Given the description of an element on the screen output the (x, y) to click on. 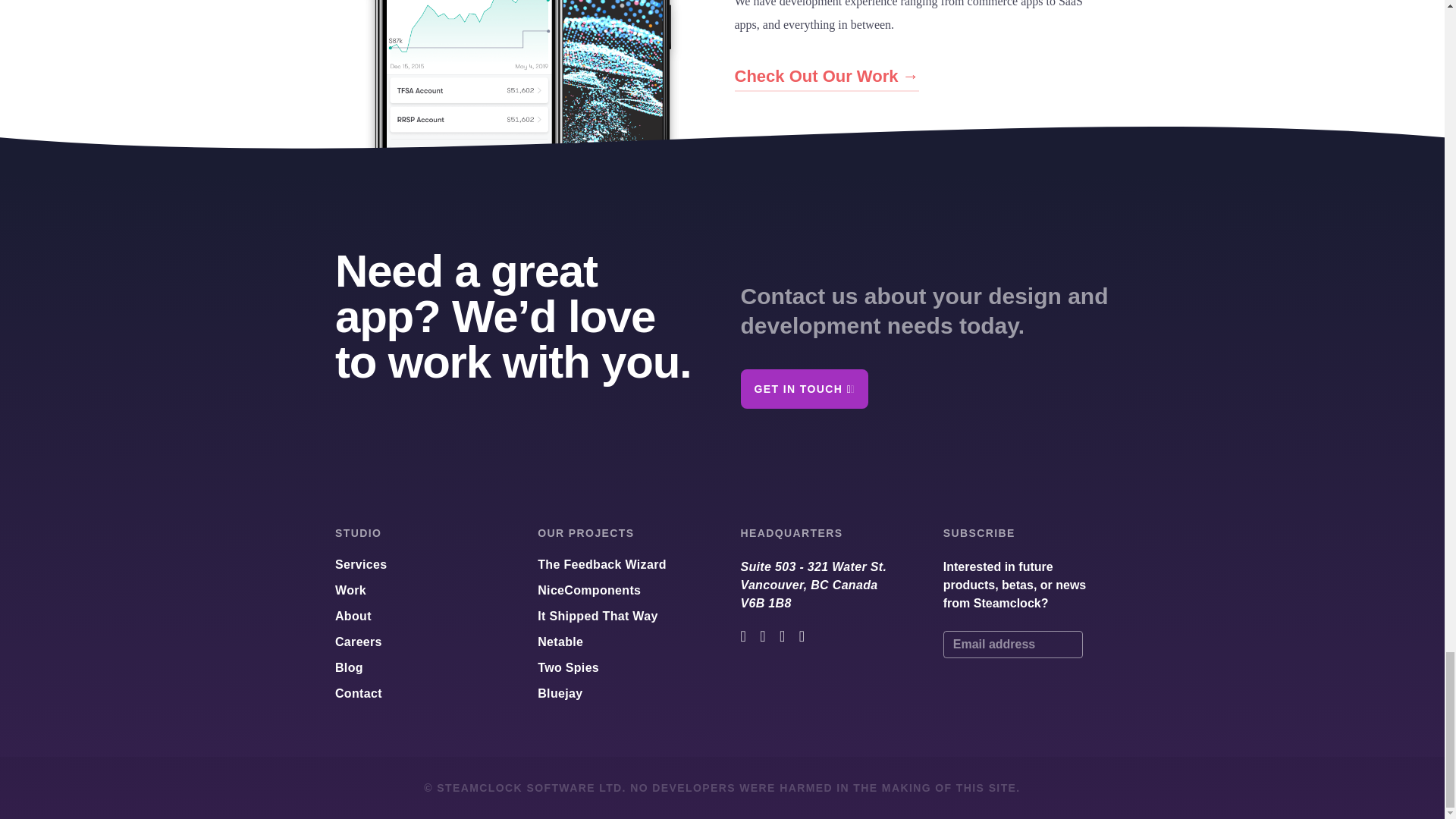
It Shipped That Way (597, 617)
Check Out Our Work (825, 77)
The Feedback Wizard (601, 565)
GET IN TOUCH (803, 388)
About (352, 617)
Netable (560, 642)
NiceComponents (588, 590)
Services (360, 565)
Blog (348, 668)
Two Spies (567, 668)
Work (822, 584)
Contact (350, 590)
Careers (357, 694)
Bluejay (357, 642)
